Given the description of an element on the screen output the (x, y) to click on. 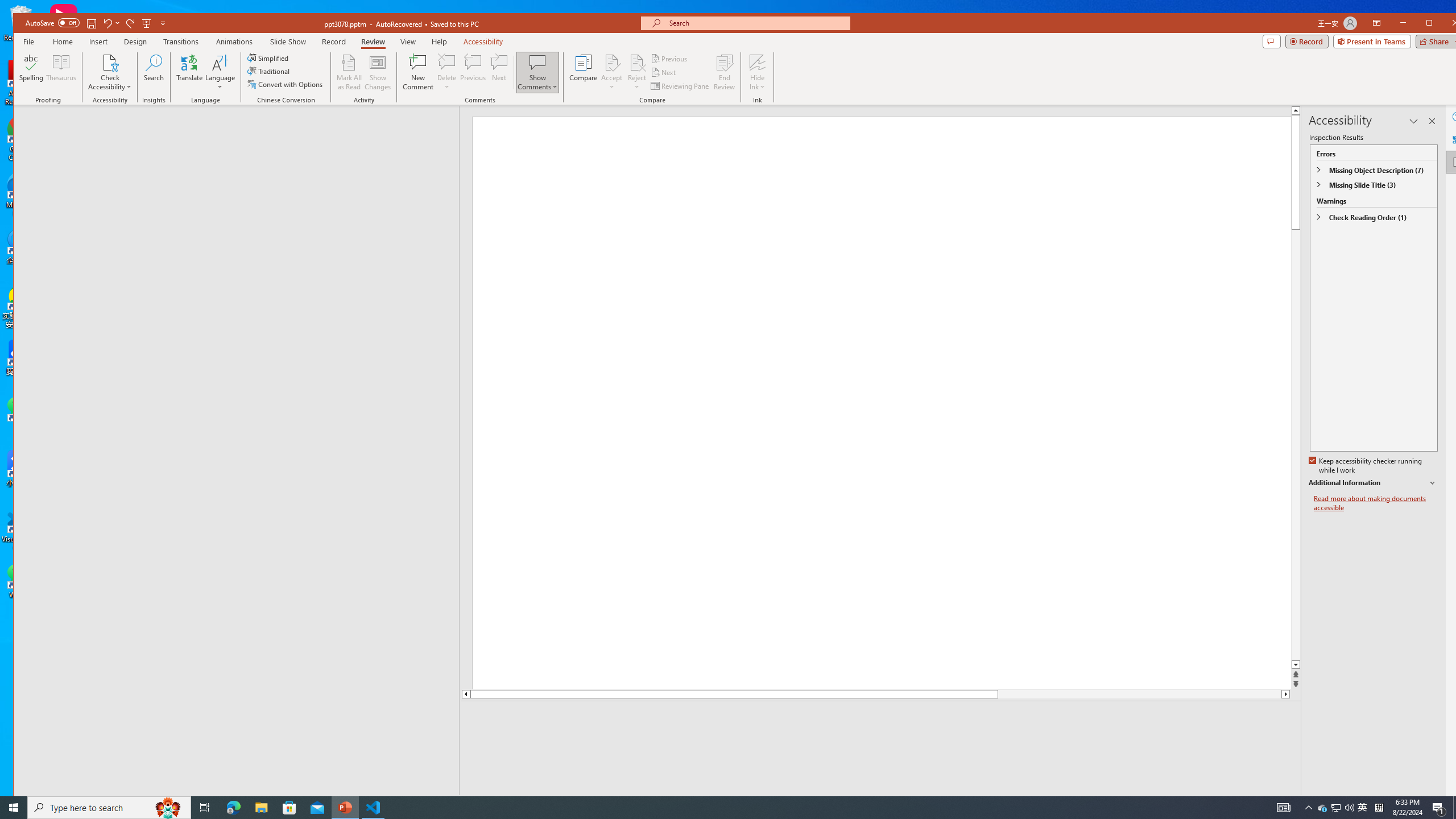
Translate (188, 72)
Line down (1286, 693)
Simplified (269, 57)
Accept (611, 72)
Spelling... (31, 72)
Compare (582, 72)
